Given the description of an element on the screen output the (x, y) to click on. 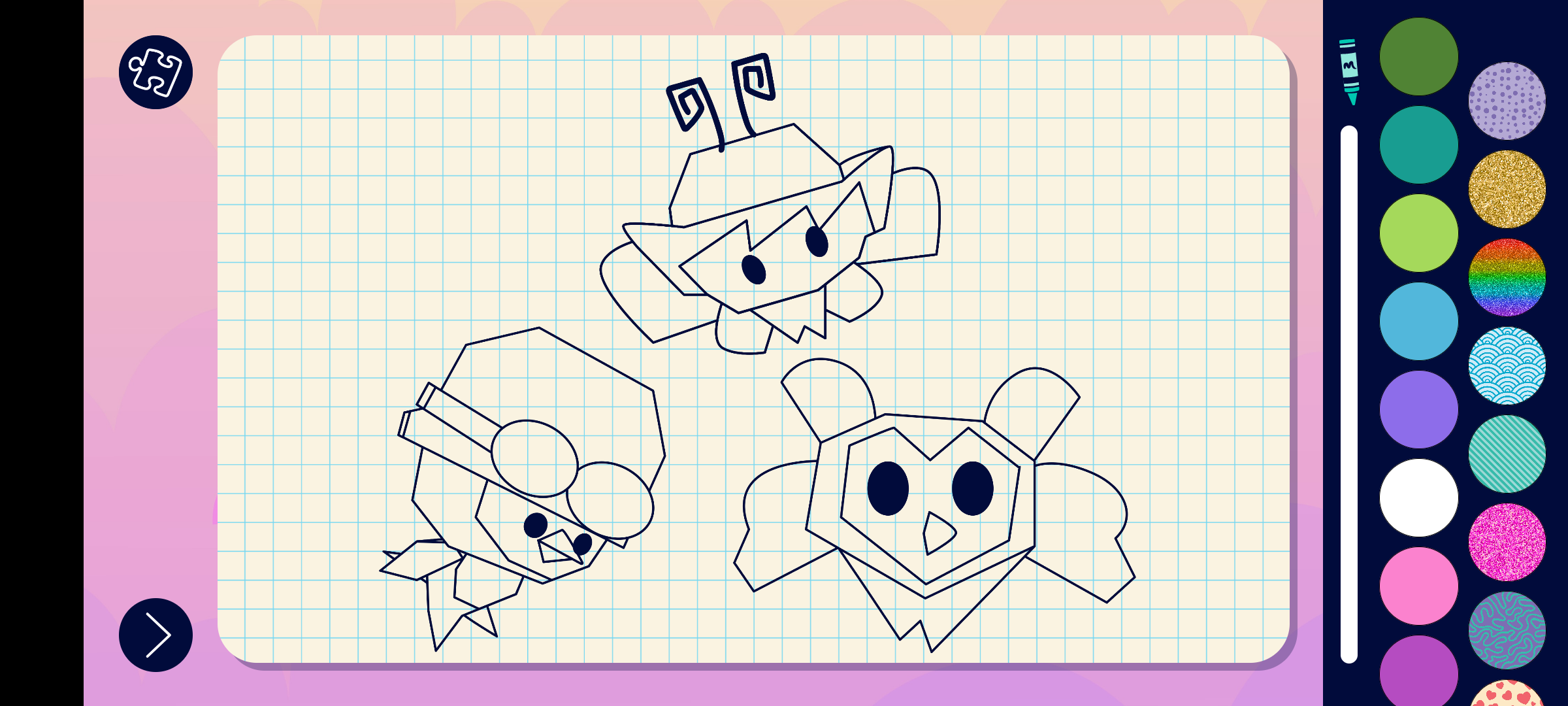
coloring background (1507, 101)
coloring background (1507, 189)
coloring background (1507, 277)
coloring background (1507, 365)
coloring background (1507, 454)
coloring background (1507, 542)
coloring background (1507, 630)
